Given the description of an element on the screen output the (x, y) to click on. 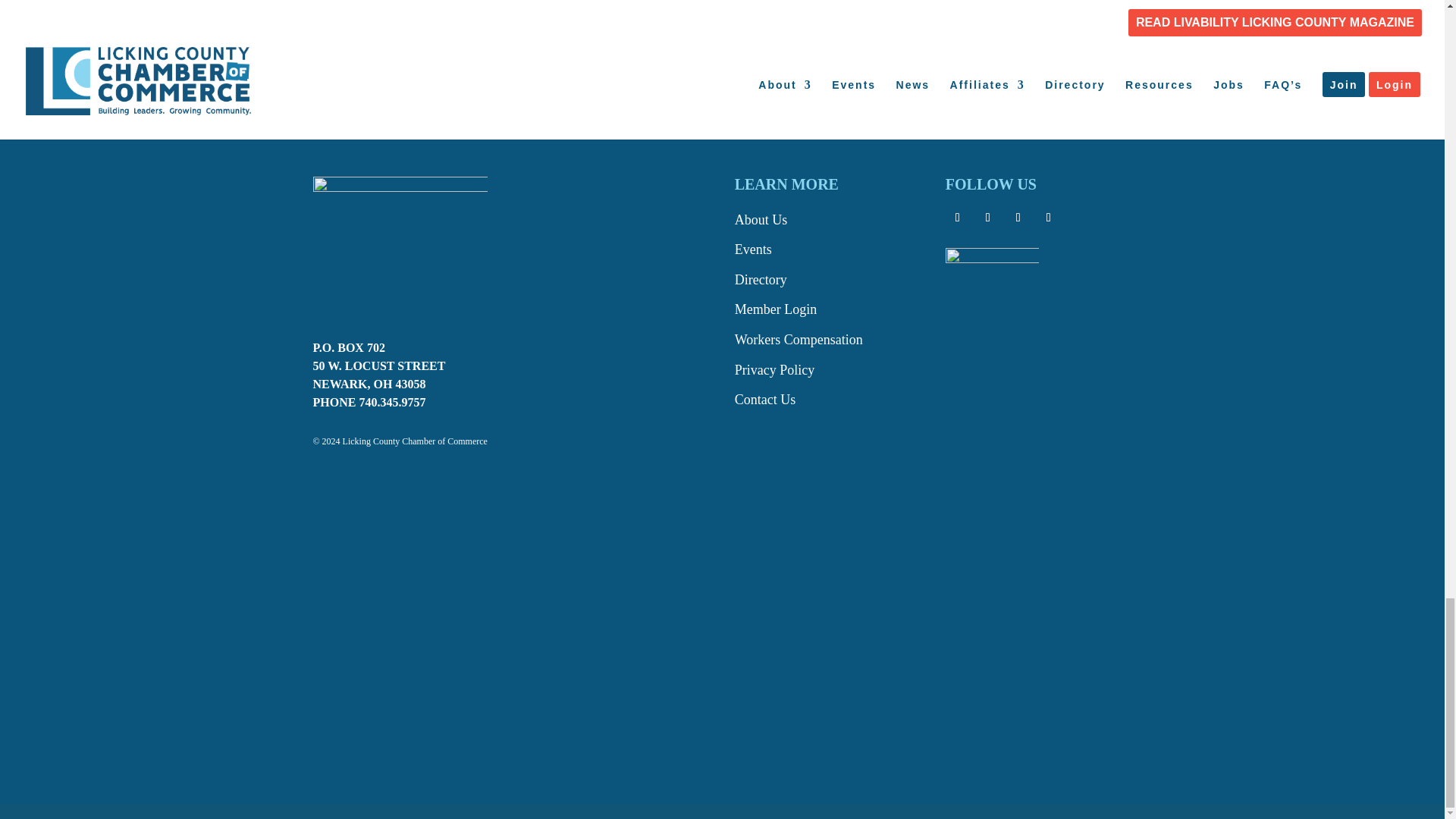
Follow on Twitter (987, 217)
Follow on LinkedIn (1048, 217)
Follow on Instagram (1018, 217)
Follow on Facebook (956, 217)
